Given the description of an element on the screen output the (x, y) to click on. 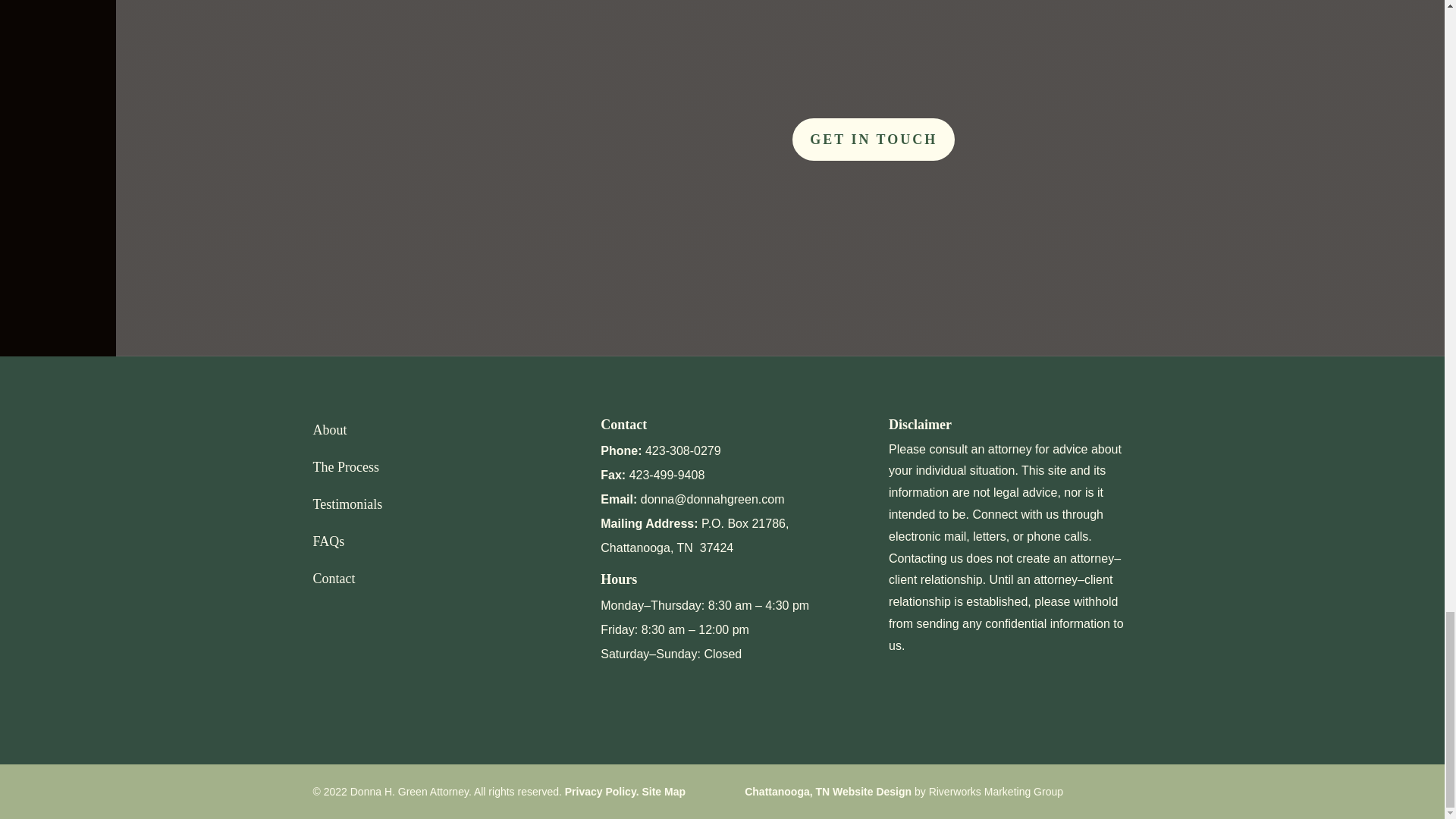
FAQs (328, 540)
423-308-0279 (682, 450)
The Process (345, 467)
About (329, 429)
Site Map (663, 791)
Testimonials (347, 503)
Privacy Policy. (603, 791)
Contact (334, 578)
GET IN TOUCH (873, 139)
Chattanooga, TN Website Design (827, 791)
